Given the description of an element on the screen output the (x, y) to click on. 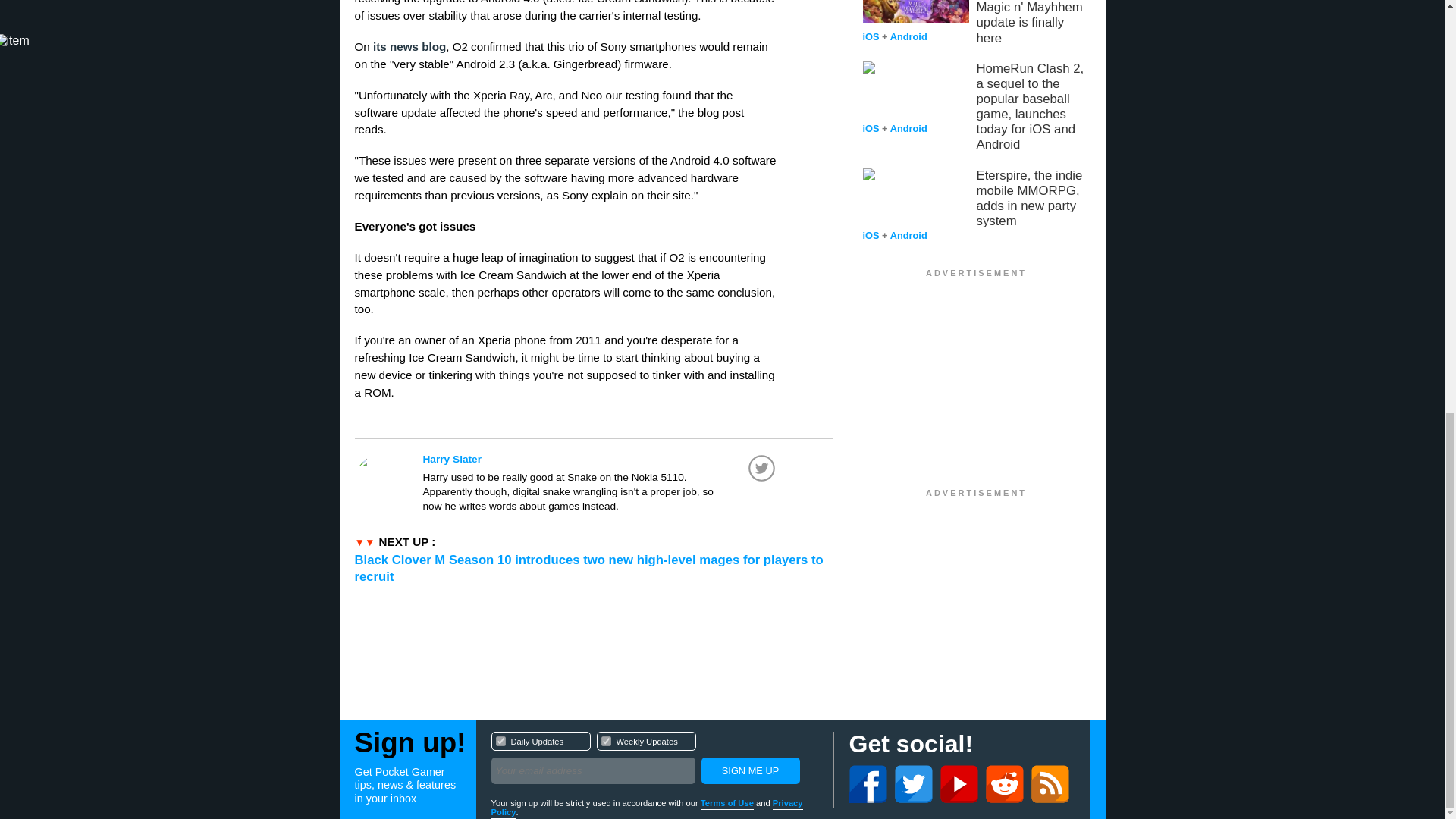
1 (500, 741)
2 (604, 741)
Sign Me Up (749, 770)
its news blog (408, 47)
Harry Slater (600, 459)
Sign Me Up (654, 759)
